Given the description of an element on the screen output the (x, y) to click on. 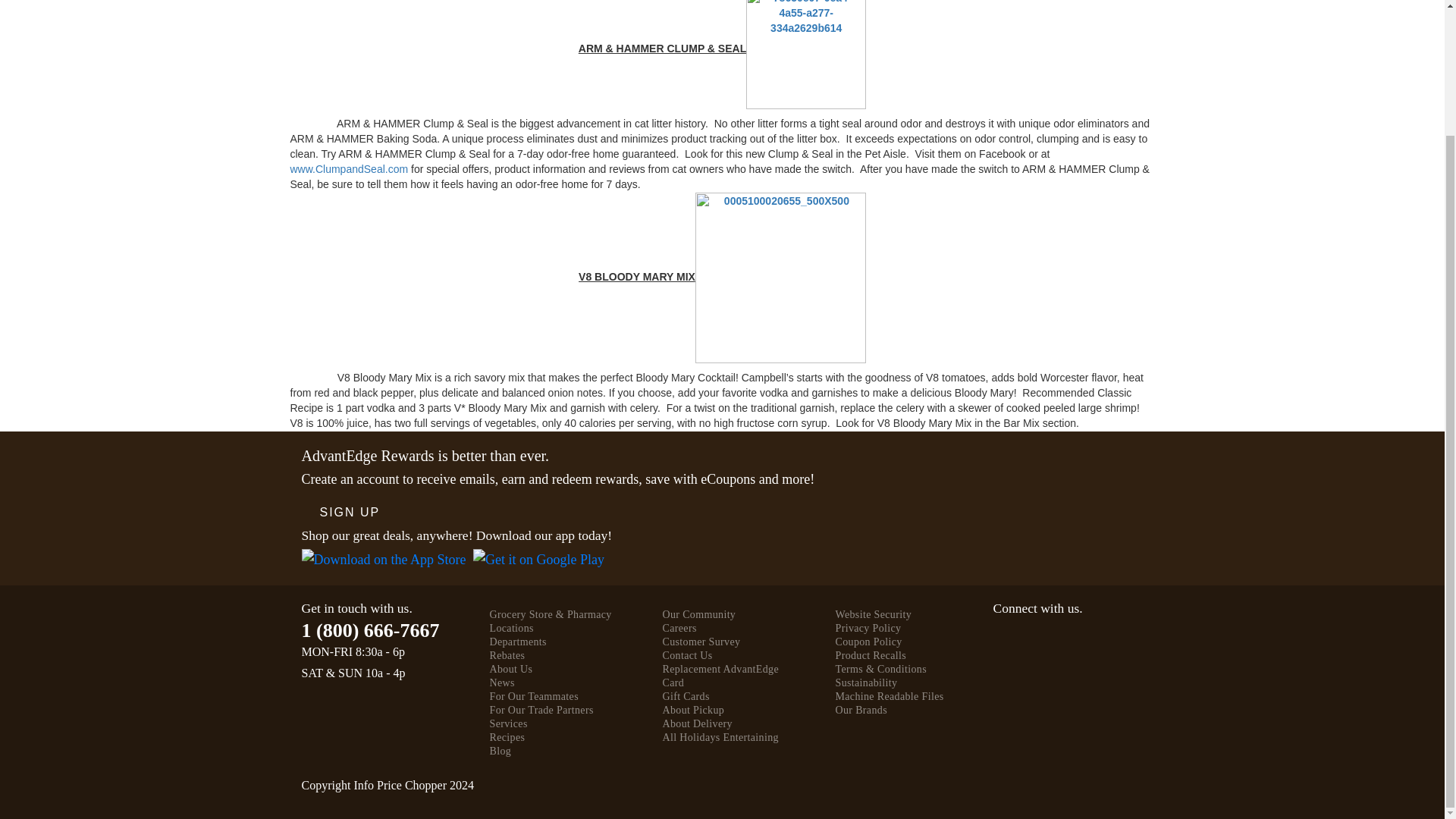
Departments (518, 641)
Rebates (507, 655)
For Our Trade Partners (541, 709)
Services (508, 723)
www.ClumpandSeal.com (348, 168)
About Us (510, 668)
News (502, 682)
SIGN UP (349, 512)
Recipes (507, 737)
For Our Teammates (533, 696)
